Given the description of an element on the screen output the (x, y) to click on. 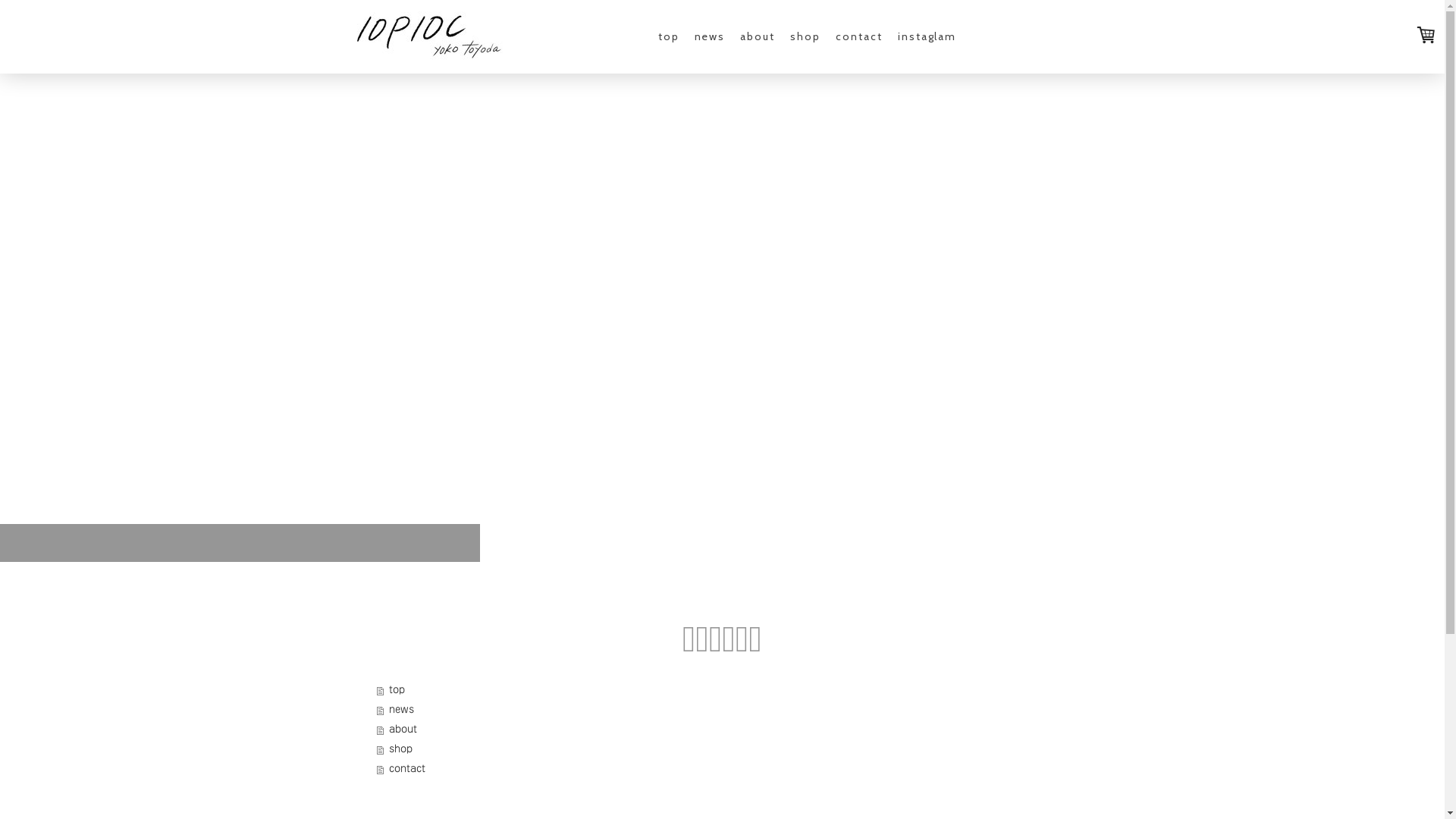
instaglam Element type: text (927, 36)
about Element type: text (729, 729)
top Element type: text (729, 689)
shop Element type: text (805, 36)
news Element type: text (710, 36)
contact Element type: text (859, 36)
top Element type: text (668, 36)
shop Element type: text (729, 749)
about Element type: text (757, 36)
news Element type: text (729, 709)
contact Element type: text (729, 768)
